Given the description of an element on the screen output the (x, y) to click on. 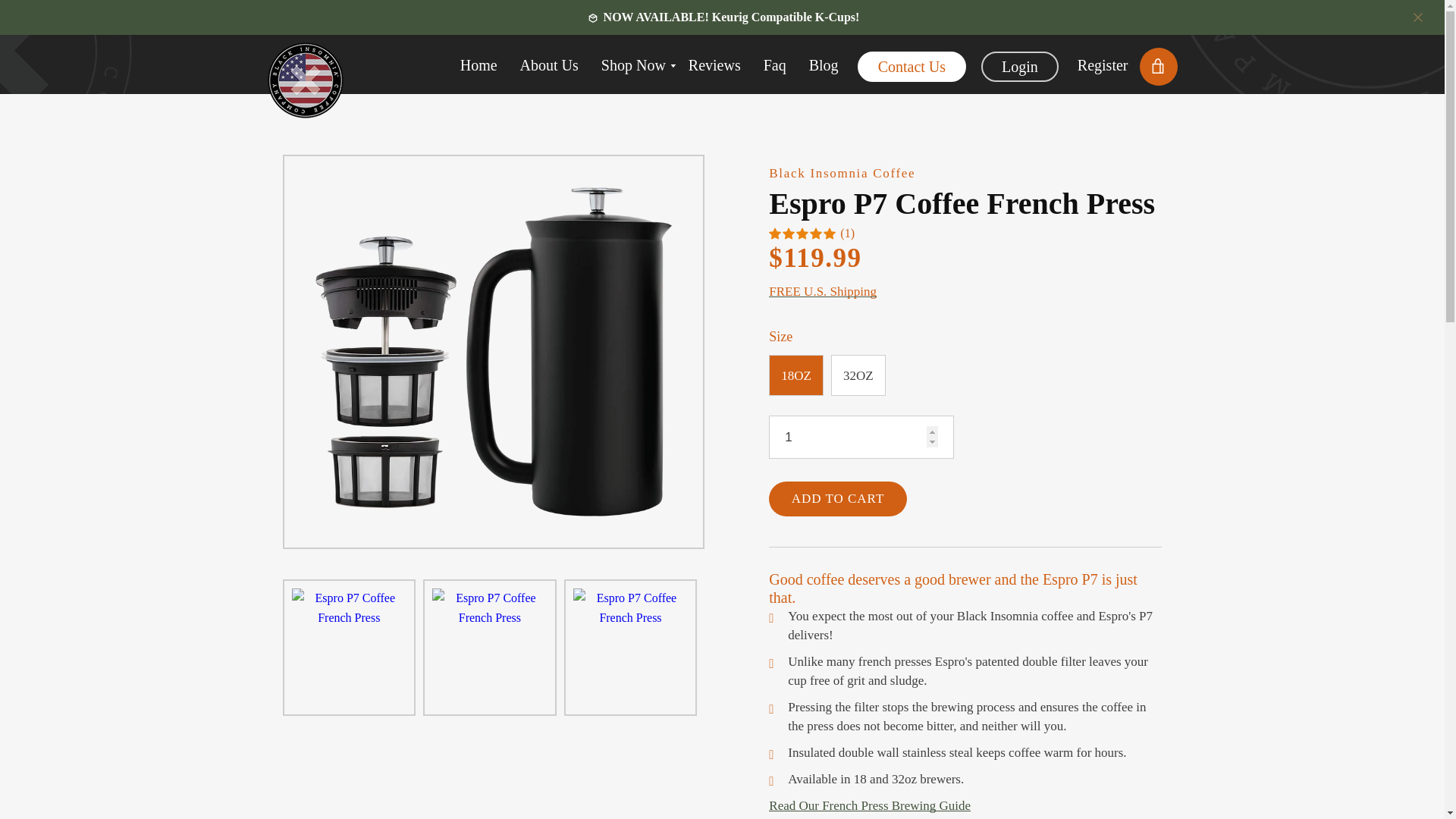
How To Brew Coffee Using a French Press (869, 805)
1 (860, 436)
About Us (632, 66)
Home (549, 66)
